Given the description of an element on the screen output the (x, y) to click on. 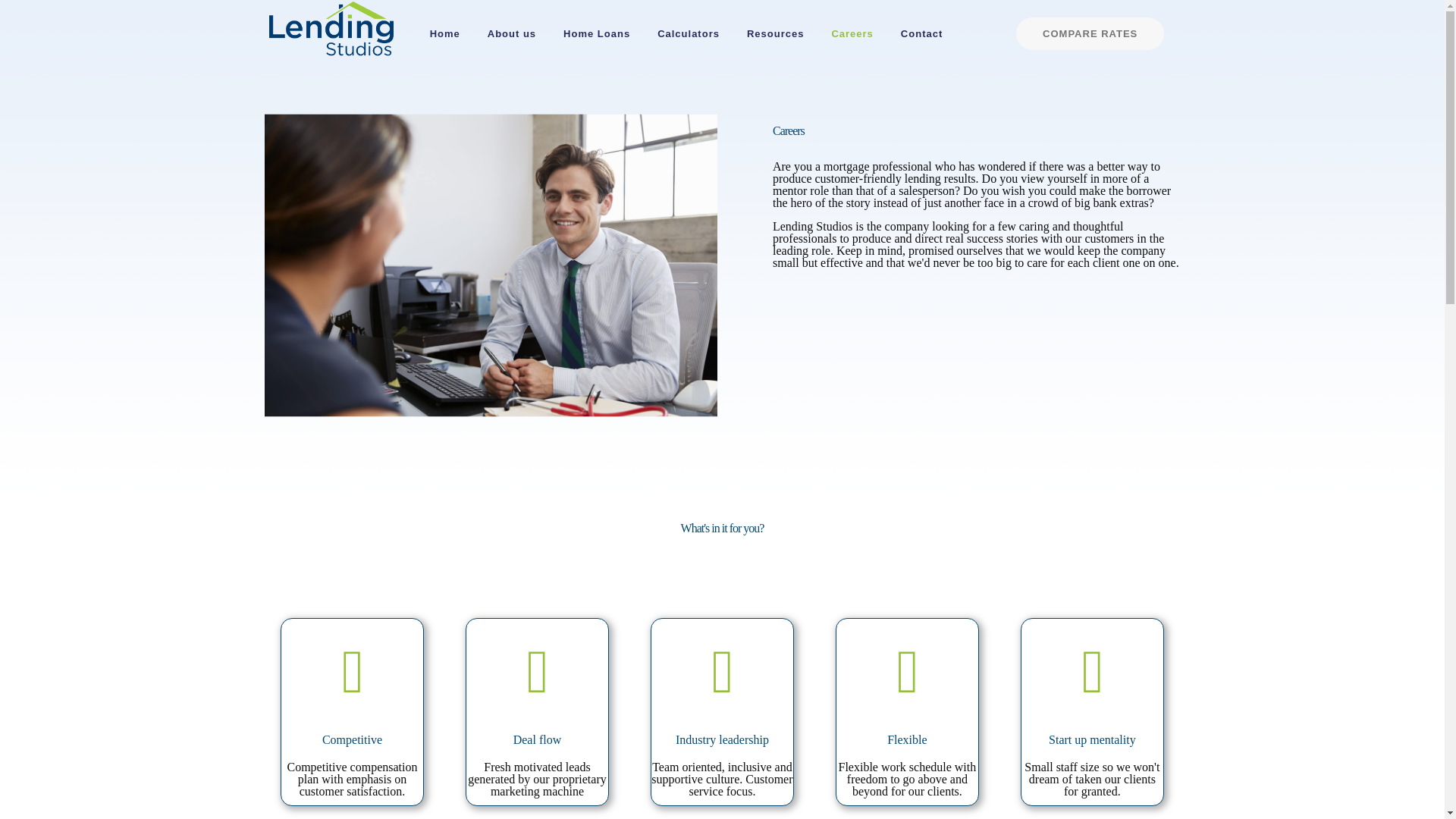
Careers (851, 28)
Lending Studios (331, 28)
About us (512, 28)
Resources (774, 28)
Contact (921, 28)
COMPARE RATES (1089, 33)
Home (445, 28)
Home Loans (596, 28)
Calculators (688, 28)
